Given the description of an element on the screen output the (x, y) to click on. 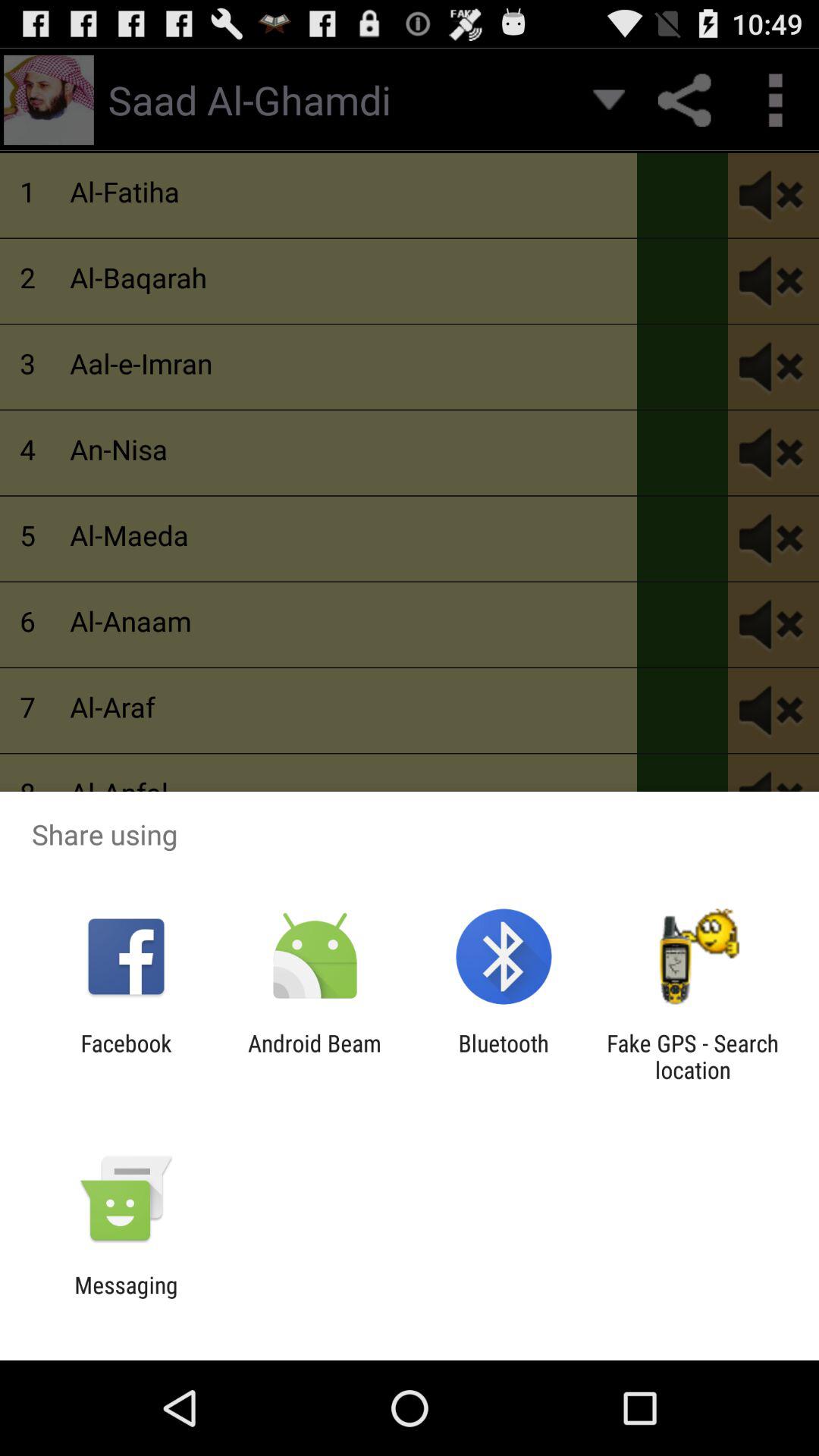
tap app to the left of bluetooth (314, 1056)
